Given the description of an element on the screen output the (x, y) to click on. 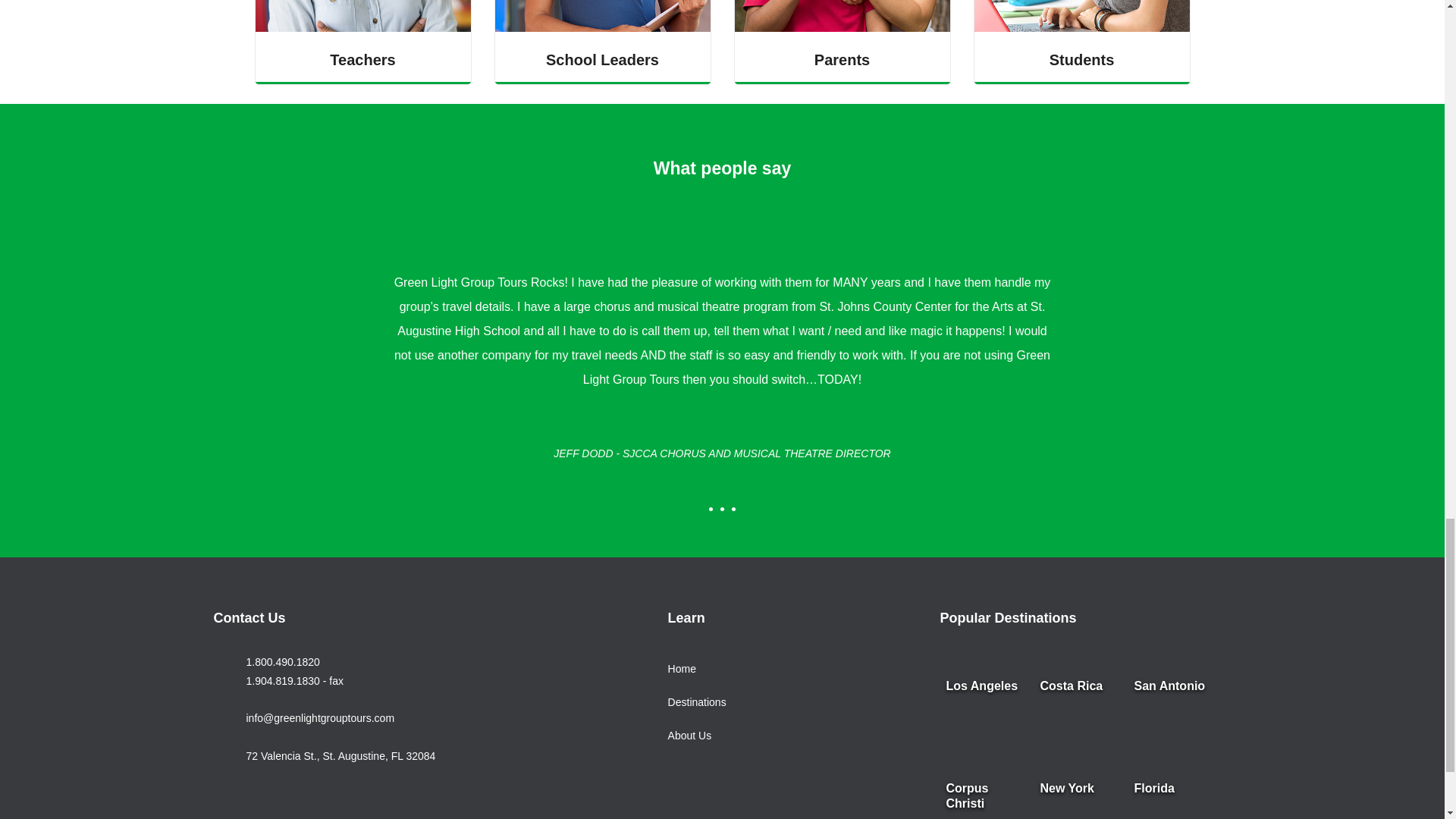
Florida (1173, 796)
Los Angeles (985, 717)
Destinations (697, 702)
Home (697, 669)
About Us (697, 735)
New York (1078, 796)
San Antonio (1173, 717)
Corpus Christi (985, 796)
Costa Rica (1078, 717)
